Given the description of an element on the screen output the (x, y) to click on. 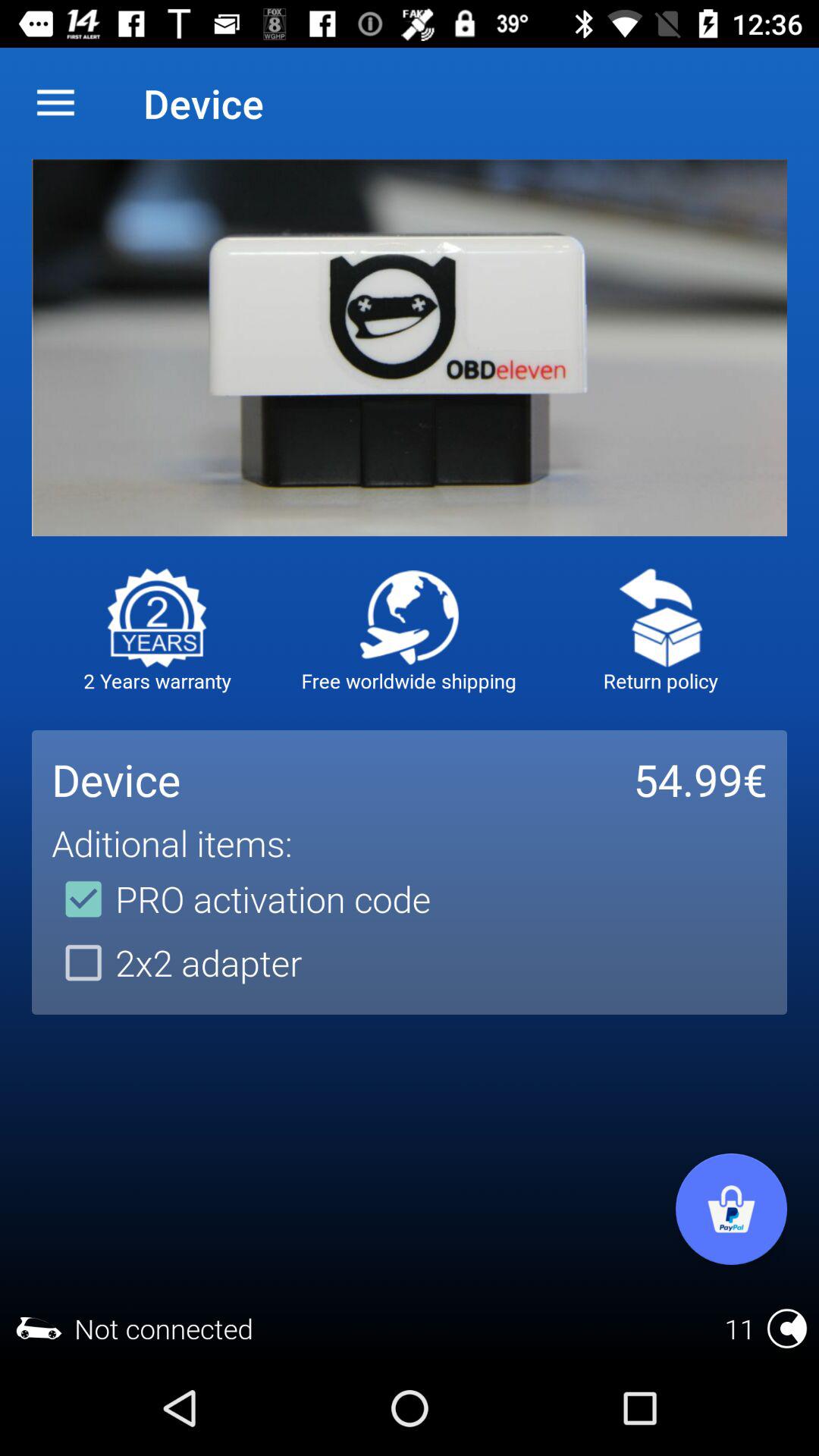
open shop cart (731, 1208)
